Given the description of an element on the screen output the (x, y) to click on. 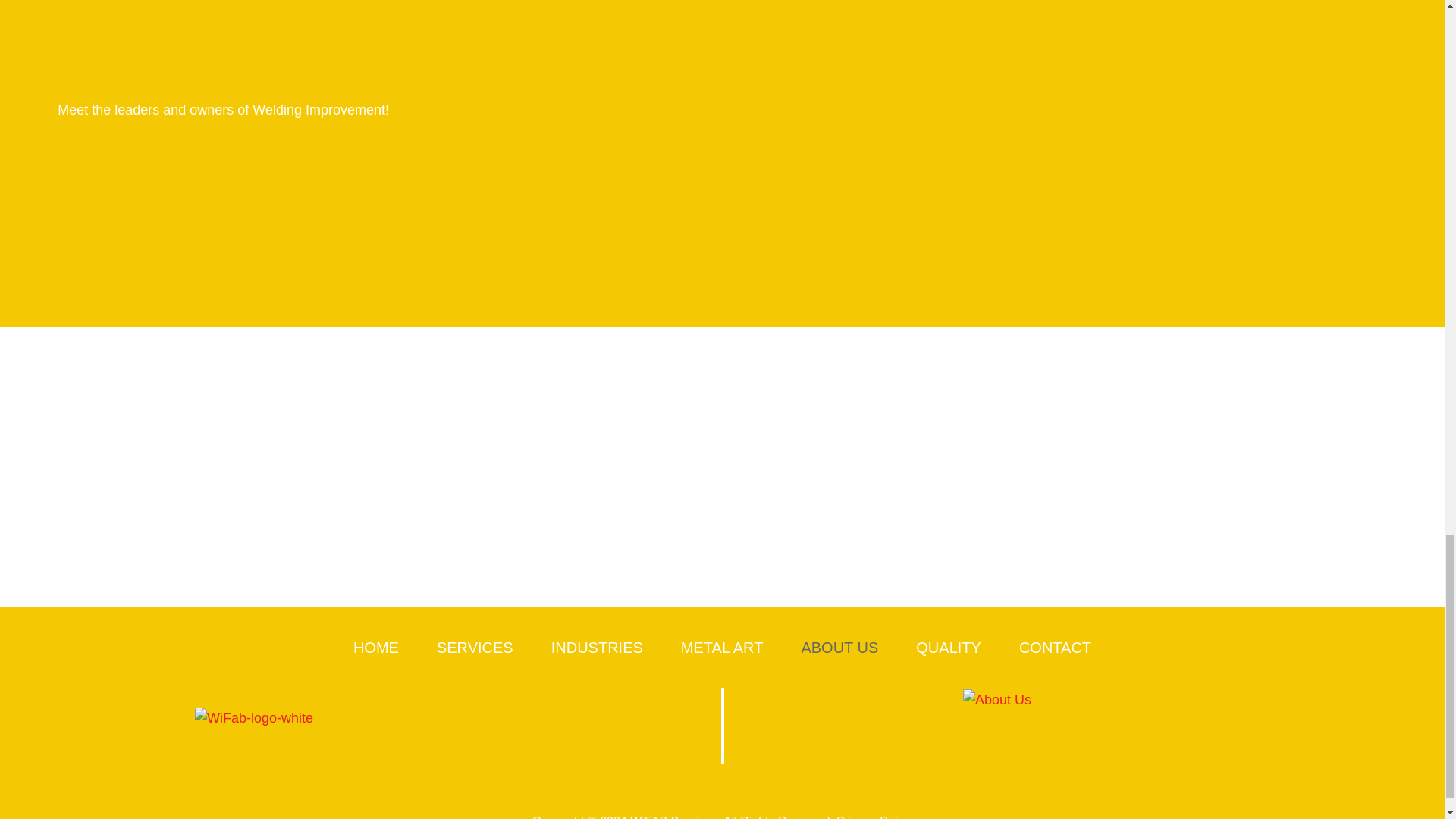
WiFab-logo-white (337, 718)
HOME SERVICES INDUSTRIES METAL ART ABOUT US QUALITY CONTACT (721, 647)
About Us (1053, 725)
